Given the description of an element on the screen output the (x, y) to click on. 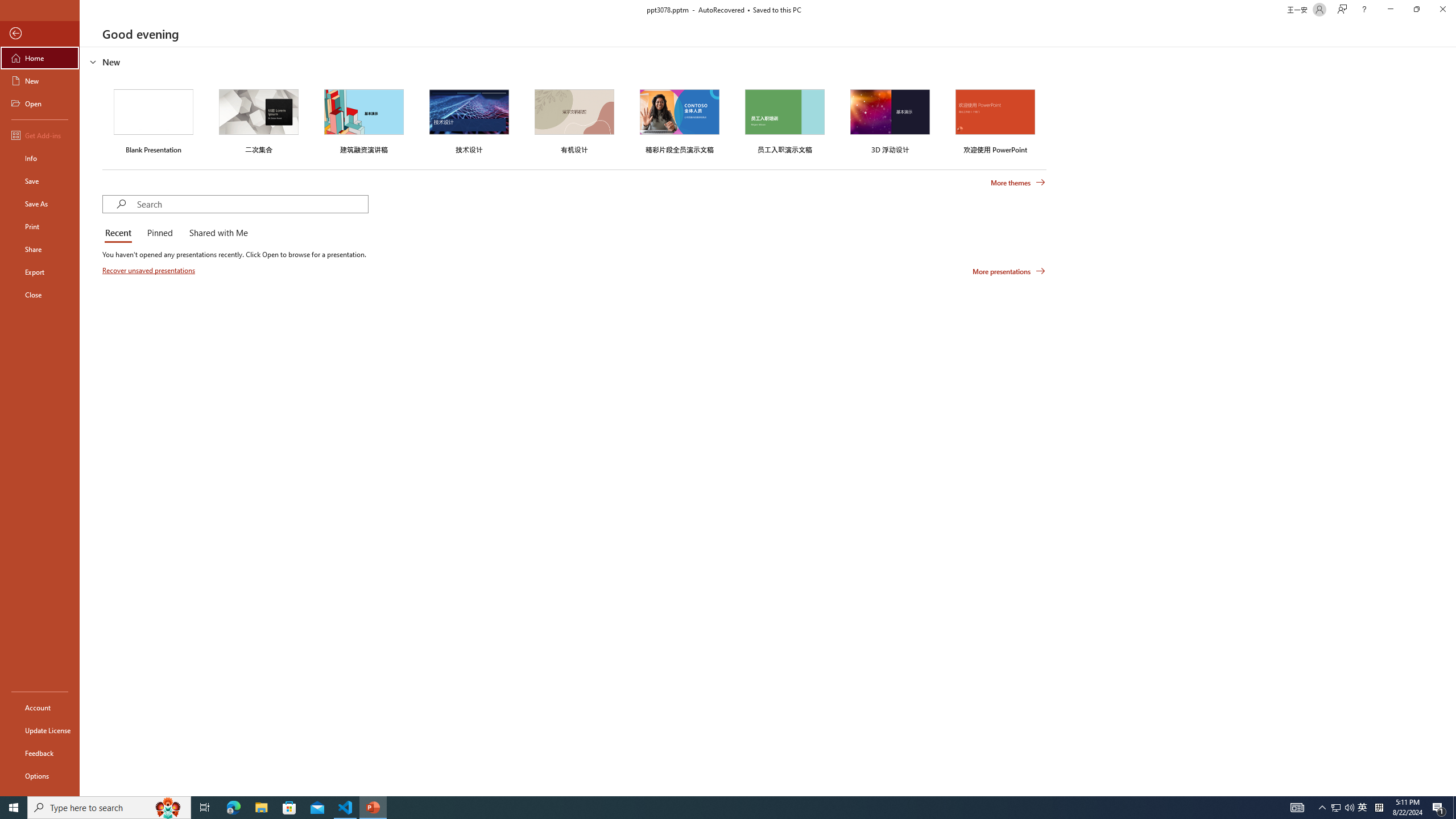
Recent (119, 233)
Update License (40, 730)
Account (40, 707)
Feedback (40, 753)
